Given the description of an element on the screen output the (x, y) to click on. 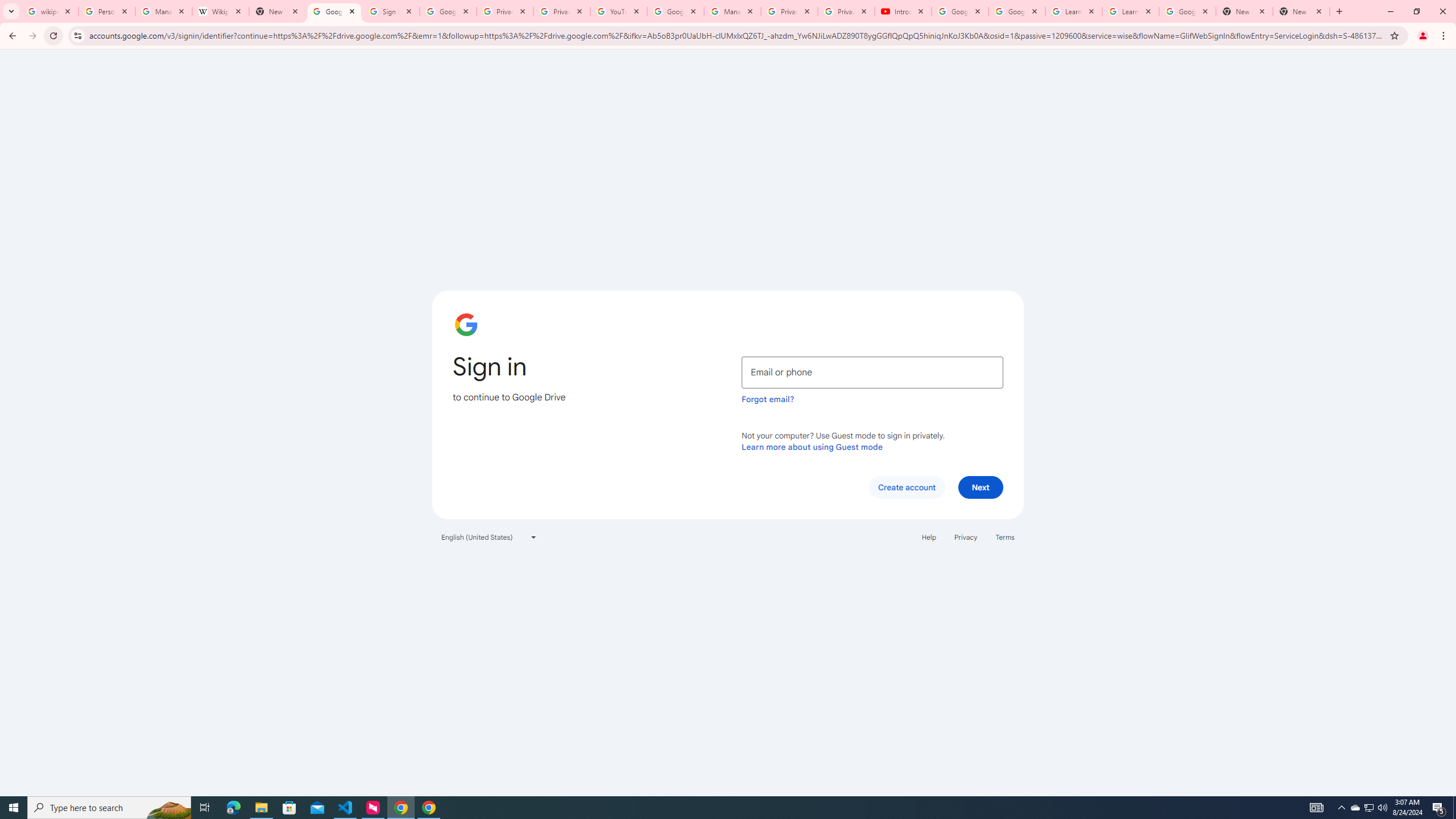
New Tab (1301, 11)
Google Drive: Sign-in (447, 11)
Email or phone (872, 372)
